Given the description of an element on the screen output the (x, y) to click on. 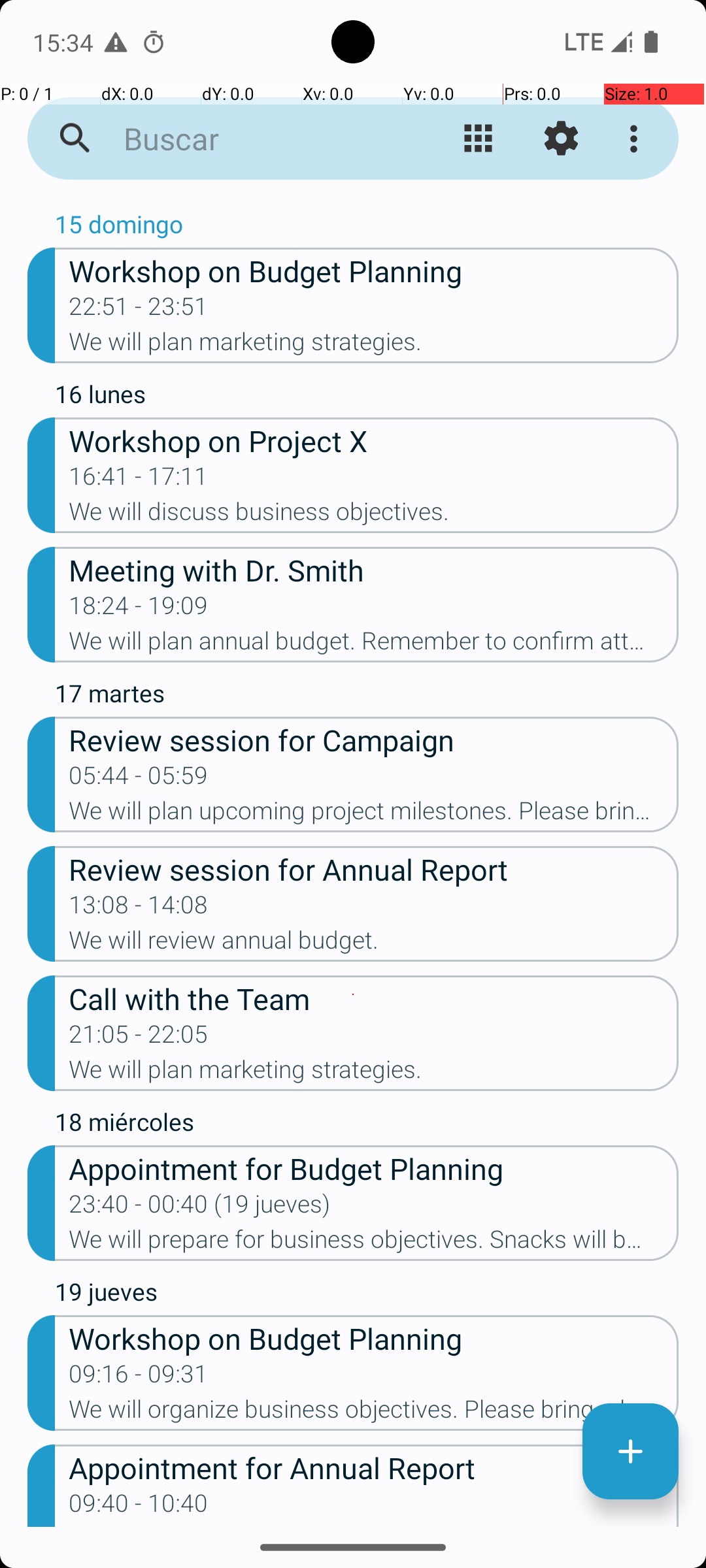
OCTUBRE Element type: android.widget.TextView (353, 200)
15 domingo Element type: android.widget.TextView (366, 227)
16 lunes Element type: android.widget.TextView (366, 396)
17 martes Element type: android.widget.TextView (366, 696)
18 miércoles Element type: android.widget.TextView (366, 1124)
19 jueves Element type: android.widget.TextView (366, 1294)
Workshop on Budget Planning Element type: android.widget.TextView (373, 269)
22:51 - 23:51 Element type: android.widget.TextView (137, 309)
We will plan marketing strategies. Element type: android.widget.TextView (373, 345)
Workshop on Project X Element type: android.widget.TextView (373, 439)
16:41 - 17:11 Element type: android.widget.TextView (137, 479)
We will discuss business objectives. Element type: android.widget.TextView (373, 515)
Meeting with Dr. Smith Element type: android.widget.TextView (373, 568)
18:24 - 19:09 Element type: android.widget.TextView (137, 609)
We will plan annual budget. Remember to confirm attendance. Element type: android.widget.TextView (373, 644)
Review session for Campaign Element type: android.widget.TextView (373, 738)
05:44 - 05:59 Element type: android.widget.TextView (137, 779)
We will plan upcoming project milestones. Please bring relevant documents. Element type: android.widget.TextView (373, 814)
Review session for Annual Report Element type: android.widget.TextView (373, 868)
13:08 - 14:08 Element type: android.widget.TextView (137, 908)
We will review annual budget. Element type: android.widget.TextView (373, 943)
Call with the Team Element type: android.widget.TextView (373, 997)
21:05 - 22:05 Element type: android.widget.TextView (137, 1037)
Appointment for Budget Planning Element type: android.widget.TextView (373, 1167)
23:40 - 00:40 (19 jueves) Element type: android.widget.TextView (199, 1207)
We will prepare for business objectives. Snacks will be provided. Element type: android.widget.TextView (373, 1242)
09:16 - 09:31 Element type: android.widget.TextView (137, 1377)
We will organize business objectives. Please bring relevant documents. Element type: android.widget.TextView (373, 1412)
Appointment for Annual Report Element type: android.widget.TextView (373, 1466)
09:40 - 10:40 Element type: android.widget.TextView (137, 1506)
We will organize software updates. Looking forward to productive discussions. Element type: android.widget.TextView (373, 1525)
